Given the description of an element on the screen output the (x, y) to click on. 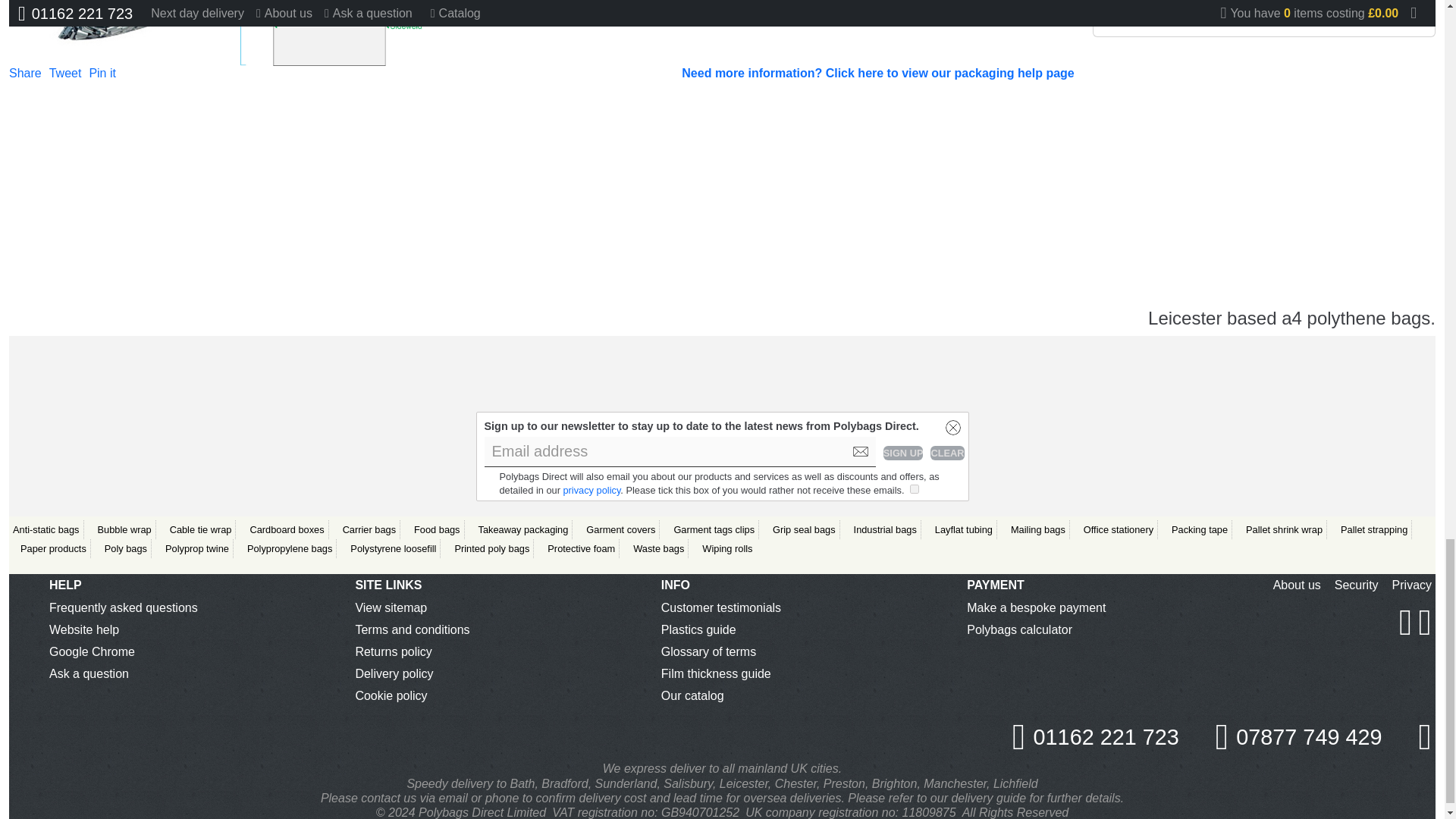
Polythene bag (325, 33)
Heavy duty poly bags (108, 33)
